Given the description of an element on the screen output the (x, y) to click on. 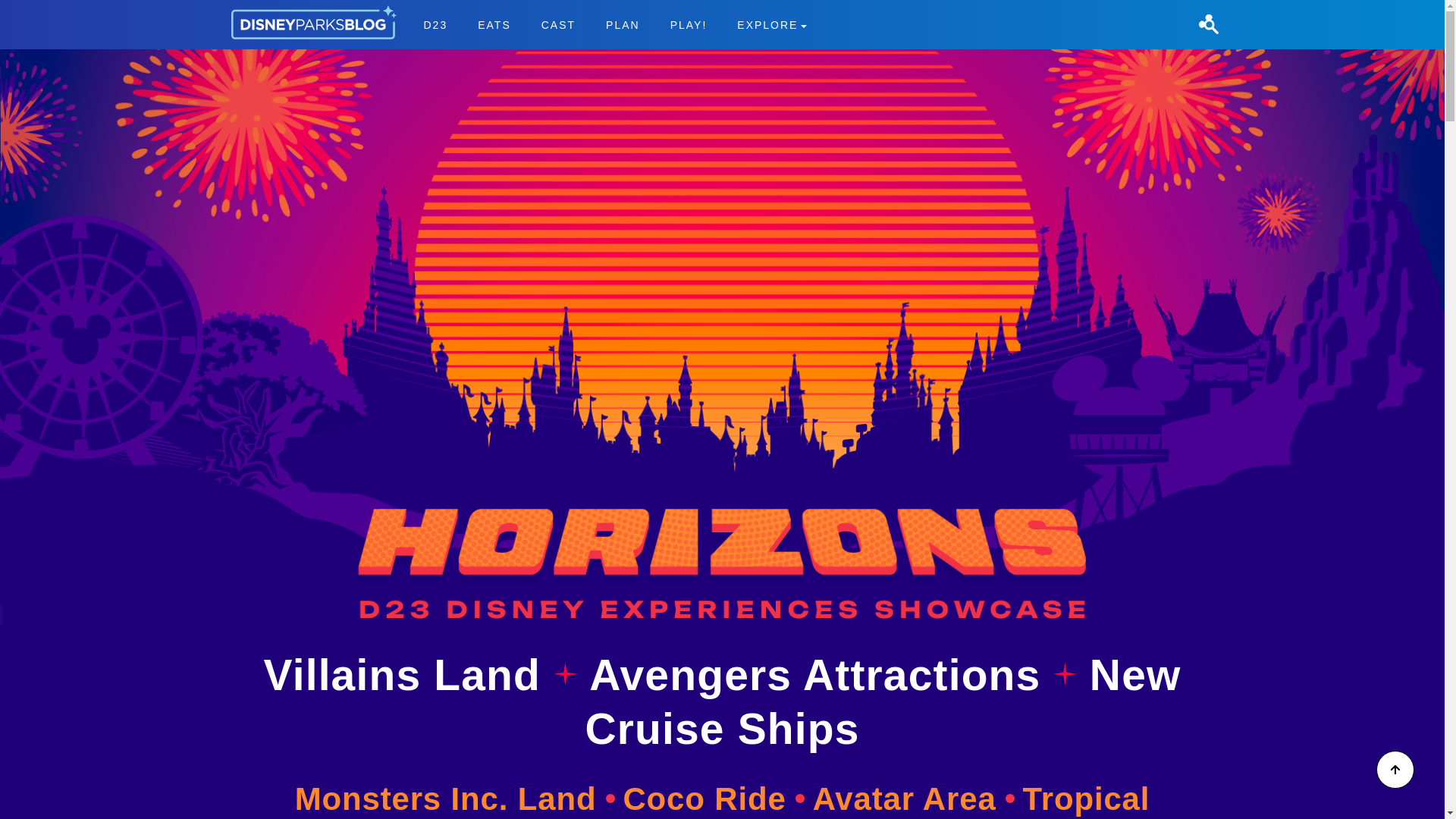
D23 (435, 23)
New Cruise Ships (614, 23)
Villains Land (882, 701)
EXPLORE (408, 674)
CAST (771, 23)
Avengers Attractions (558, 23)
PLAN (820, 674)
EATS (622, 23)
Coco Ride (494, 23)
